Given the description of an element on the screen output the (x, y) to click on. 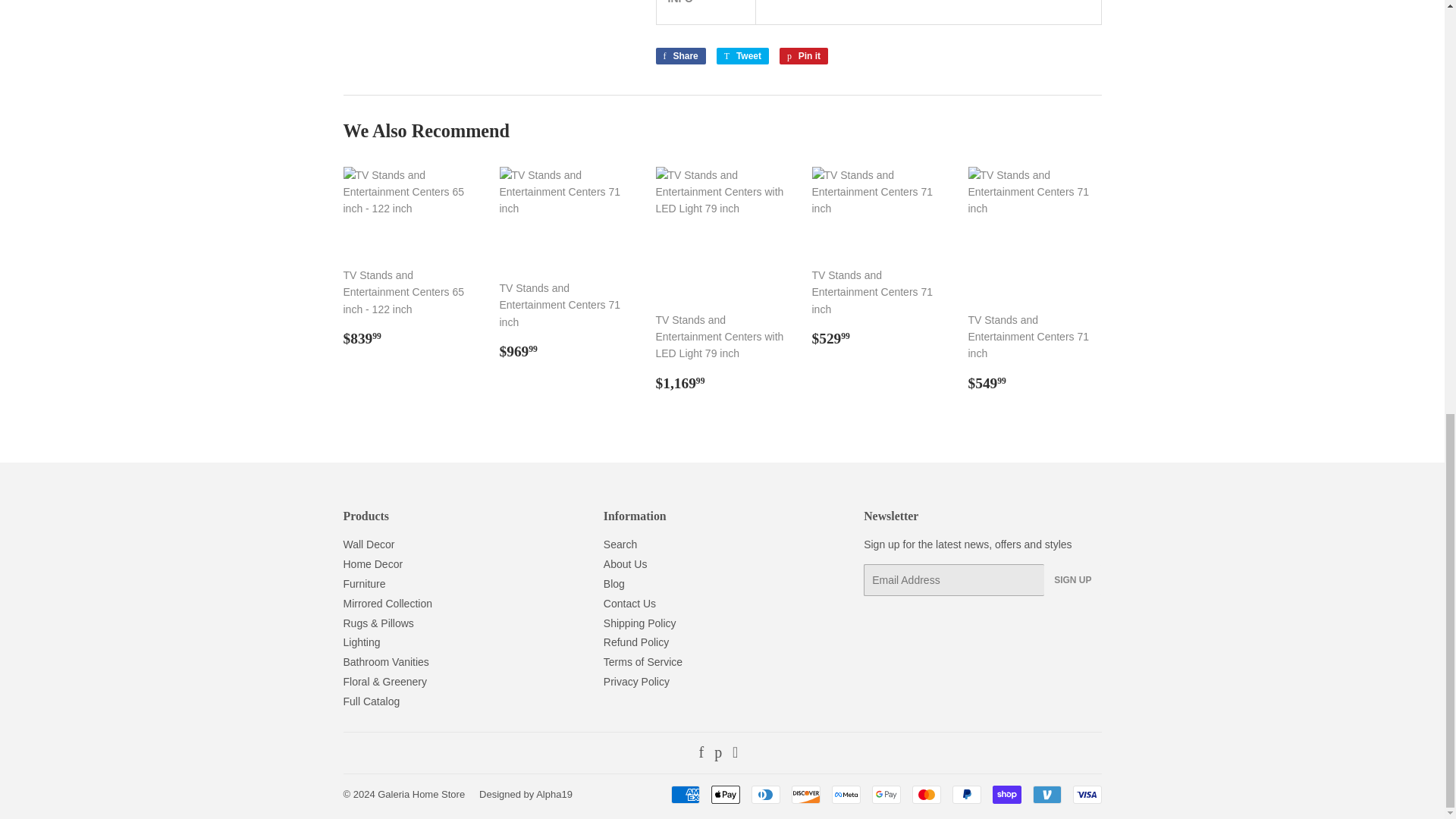
PayPal (966, 794)
Google Pay (886, 794)
Visa (1085, 794)
Pin on Pinterest (803, 55)
Share on Facebook (679, 55)
Diners Club (764, 794)
Apple Pay (725, 794)
Mastercard (925, 794)
American Express (683, 794)
Tweet on Twitter (742, 55)
